Given the description of an element on the screen output the (x, y) to click on. 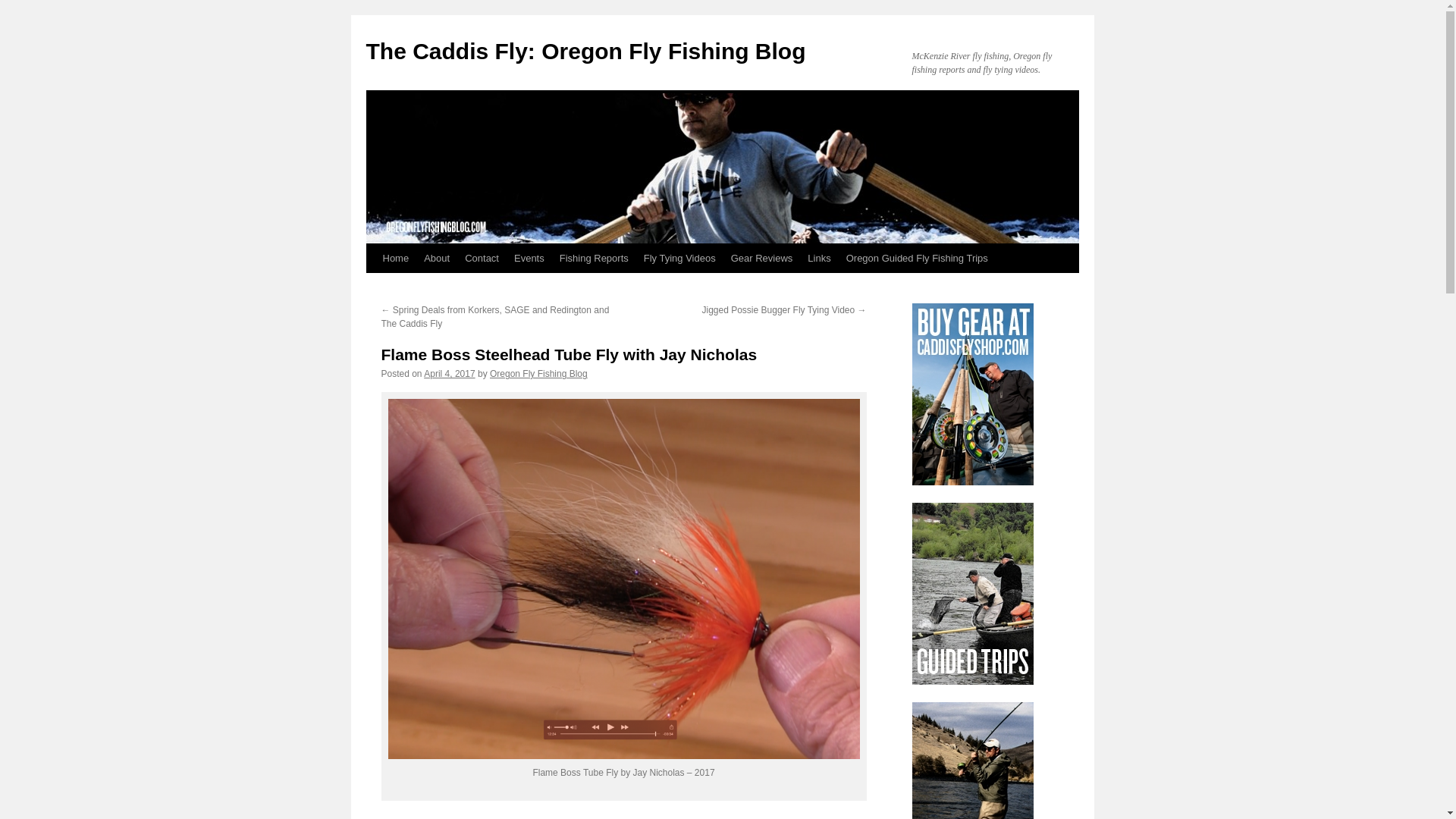
Links (818, 258)
Events (528, 258)
5:46 pm (448, 373)
Home (395, 258)
Contact (481, 258)
Oregon Fly Fishing Blog (538, 373)
The Caddis Fly: Oregon Fly Fishing Blog (585, 50)
View all posts by Oregon Fly Fishing Blog (538, 373)
Fly Tying Videos (679, 258)
Oregon Guided Fly Fishing Trips (916, 258)
